Given the description of an element on the screen output the (x, y) to click on. 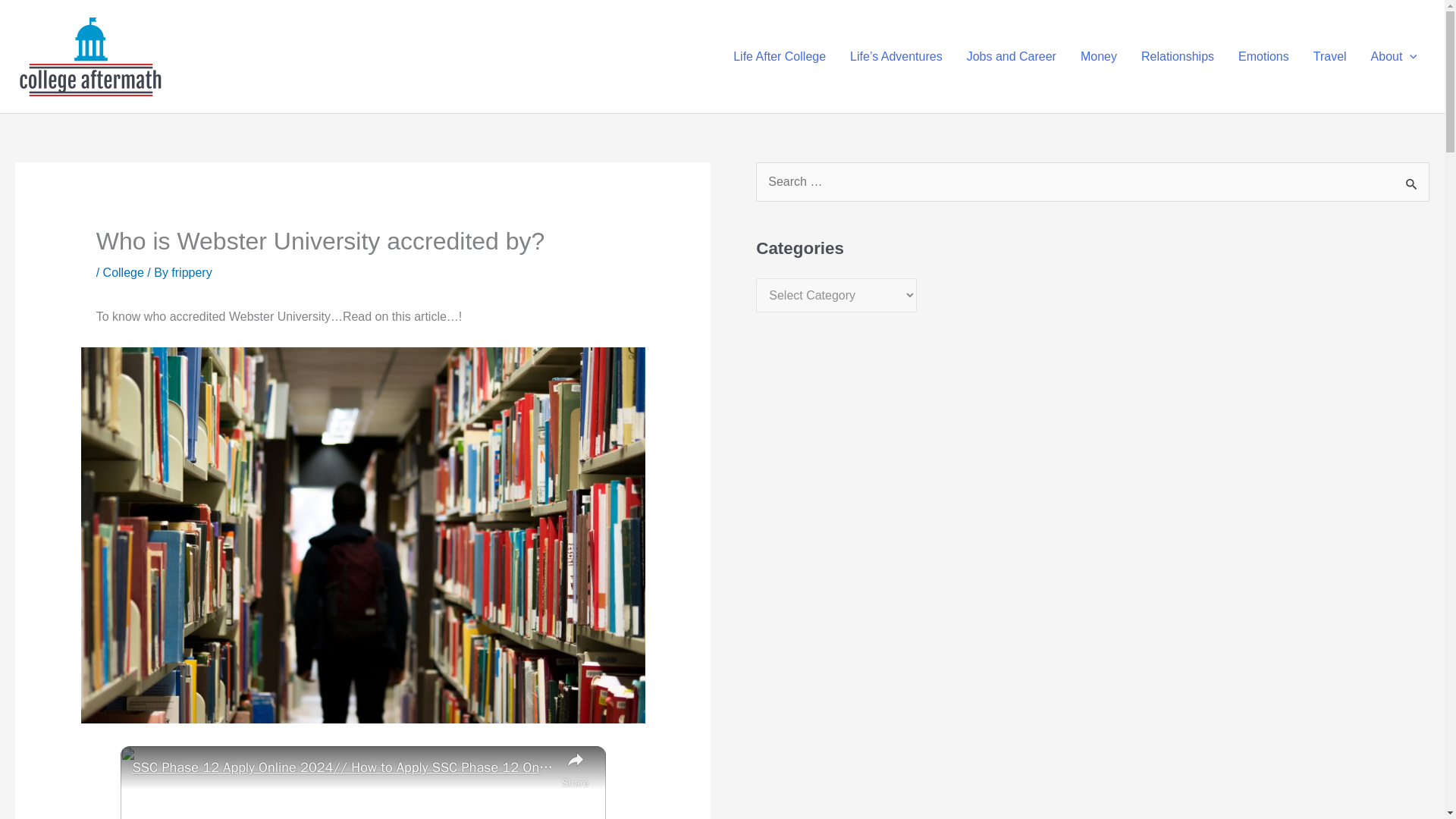
View all posts by frippery (191, 272)
Travel (1329, 56)
Life After College (779, 56)
Search (1411, 183)
Money (1098, 56)
About (1393, 56)
Search (1411, 183)
Jobs and Career (1011, 56)
share (575, 769)
Relationships (1177, 56)
Emotions (1263, 56)
